Given the description of an element on the screen output the (x, y) to click on. 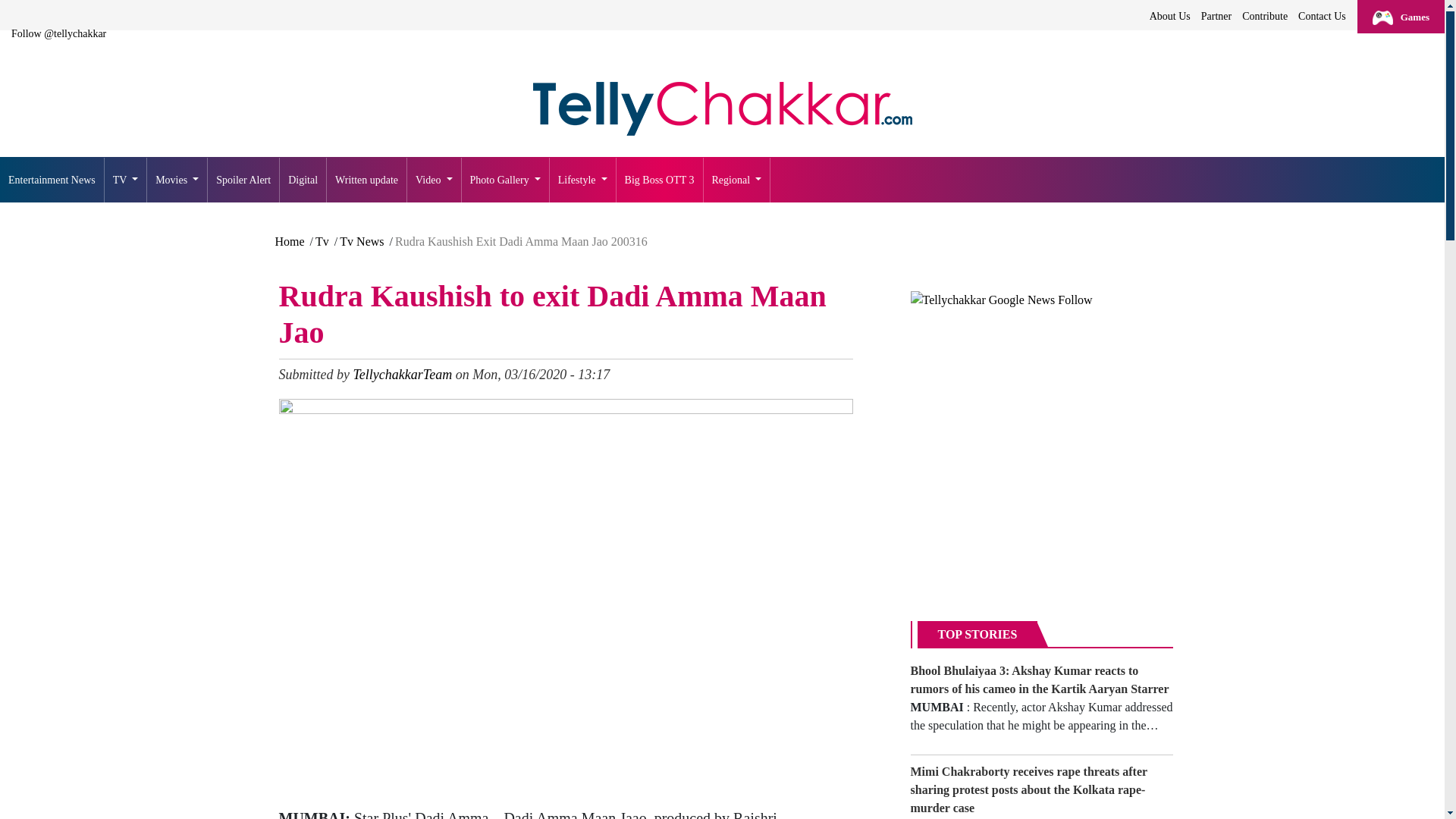
Contribute (1265, 16)
TV (125, 180)
Digital (302, 180)
About Us (1169, 16)
Spoiler Alert (243, 180)
View user profile. (401, 374)
Home (721, 108)
Contact Us (1321, 16)
Photo Gallery (505, 180)
Tellychakkar Google News Follow (1001, 300)
